Given the description of an element on the screen output the (x, y) to click on. 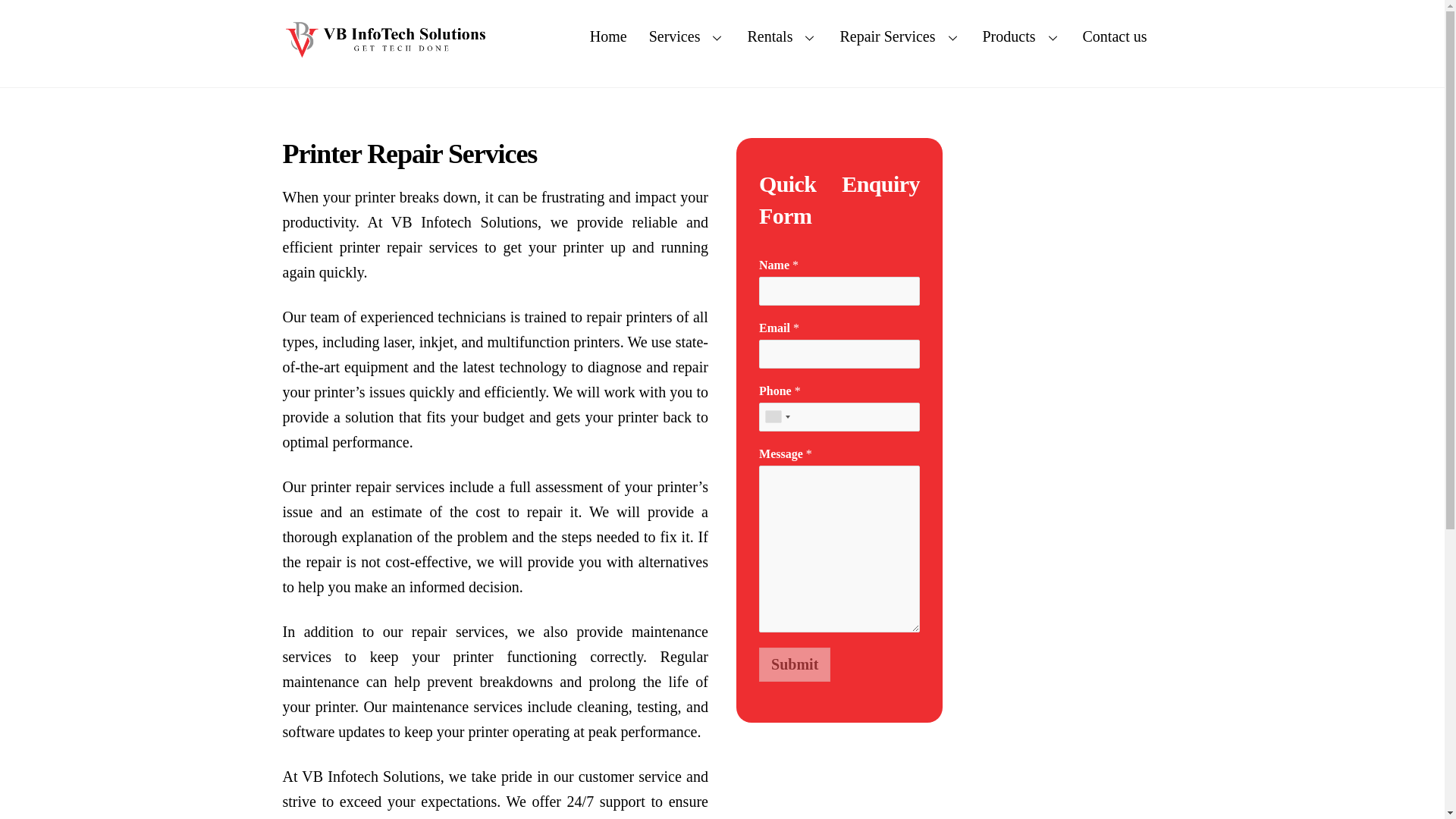
VB Infotech Solutions (384, 39)
Home (608, 36)
Products (1022, 36)
Rentals (782, 36)
VB Infotech Solutions (384, 51)
Repair Services (899, 36)
Services (687, 36)
